Given the description of an element on the screen output the (x, y) to click on. 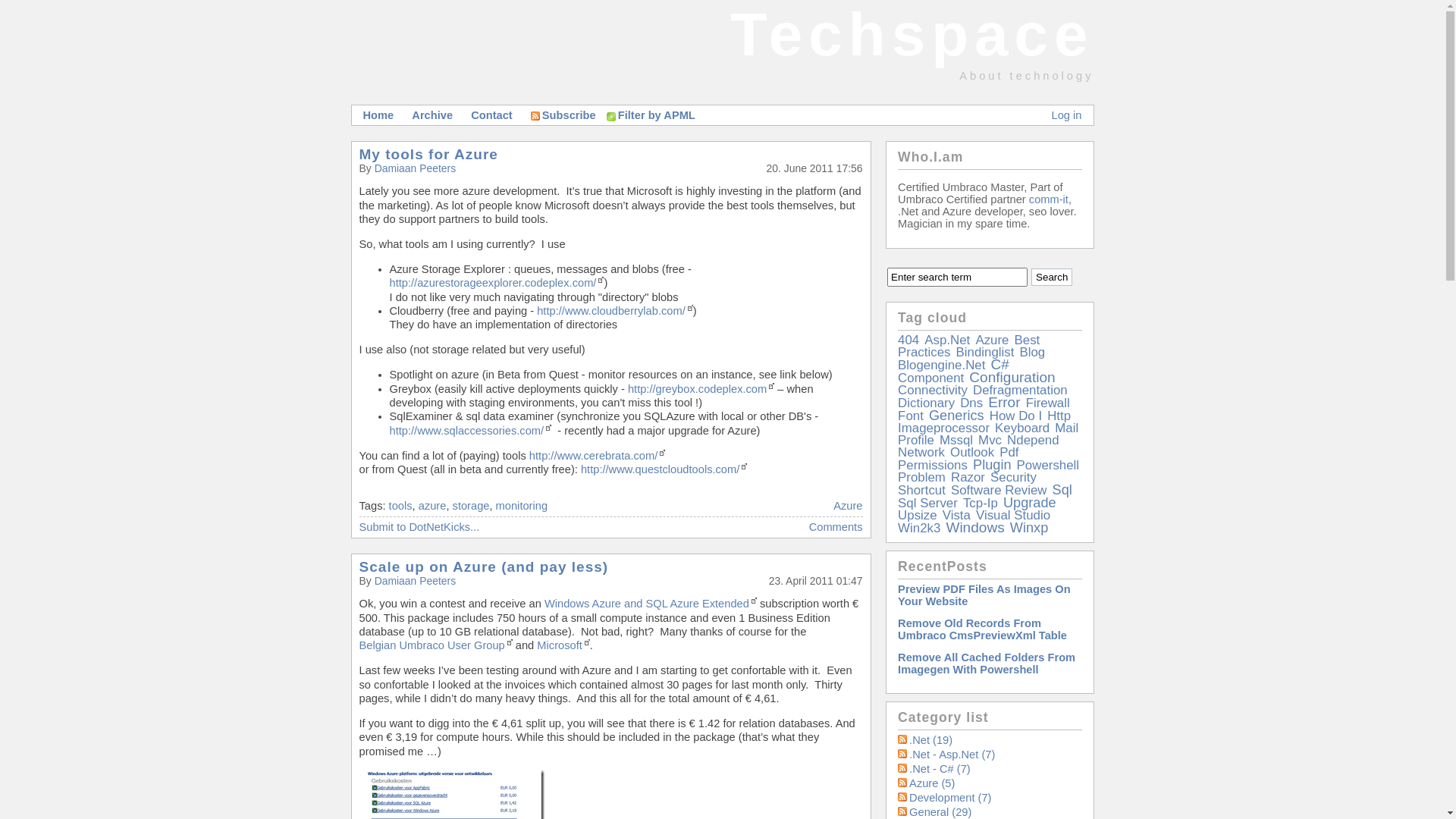
General (29) Element type: text (940, 812)
Asp.Net Element type: text (946, 339)
Archive Element type: text (432, 114)
Dns Element type: text (971, 402)
Scale up on Azure (and pay less) Element type: text (483, 566)
Ndepend Element type: text (1032, 440)
Plugin Element type: text (991, 464)
Firewall Element type: text (1048, 402)
Dictionary Element type: text (925, 402)
http://www.sqlaccessories.com/ Element type: text (470, 430)
Vista Element type: text (956, 515)
How Do I Element type: text (1015, 415)
Problem Element type: text (921, 477)
Software Review Element type: text (998, 490)
http://azurestorageexplorer.codeplex.com/ Element type: text (496, 282)
Outlook Element type: text (972, 452)
Blog Element type: text (1031, 352)
Submit to DotNetKicks... Element type: text (419, 526)
Subscribe Element type: text (563, 114)
Sql Element type: text (1062, 489)
Configuration Element type: text (1011, 377)
C# Element type: text (999, 364)
Contact Element type: text (491, 114)
Mail Profile Element type: text (987, 433)
Remove Old Records From Umbraco CmsPreviewXml Table Element type: text (981, 629)
Connectivity Element type: text (932, 389)
storage Element type: text (470, 504)
Home Element type: text (377, 114)
Windows Azure and SQL Azure Extended Element type: text (650, 603)
Damiaan Peeters Element type: text (415, 580)
Search Element type: text (1051, 276)
Blogengine.Net Element type: text (941, 364)
Azure (5) Element type: text (931, 783)
Keyboard Element type: text (1021, 427)
Powershell Element type: text (1047, 465)
Azure Element type: text (991, 339)
Techspace Element type: text (912, 34)
Network Element type: text (920, 452)
Pdf Element type: text (1008, 452)
Belgian Umbraco User Group Element type: text (435, 645)
.Net - C# (7) Element type: text (939, 768)
monitoring Element type: text (521, 504)
http://greybox.codeplex.com Element type: text (700, 388)
Mssql Element type: text (955, 440)
Best Practices Element type: text (968, 345)
Filter by APML Element type: text (654, 114)
Razor Element type: text (967, 477)
Defragmentation Element type: text (1019, 389)
Remove All Cached Folders From Imagegen With Powershell Element type: text (986, 663)
Upsize Element type: text (917, 515)
Damiaan Peeters Element type: text (415, 168)
tools Element type: text (400, 504)
Visual Studio Element type: text (1012, 515)
Windows Element type: text (974, 527)
Azure Element type: text (847, 504)
Permissions Element type: text (932, 465)
Microsoft Element type: text (562, 645)
My tools for Azure Element type: text (428, 154)
404 Element type: text (908, 339)
.Net (19) Element type: text (930, 740)
http://www.cloudberrylab.com/ Element type: text (614, 310)
Preview PDF Files As Images On Your Website Element type: text (983, 595)
http://www.cerebrata.com/ Element type: text (597, 455)
Development (7) Element type: text (950, 797)
Upgrade Element type: text (1029, 502)
Comments Element type: text (835, 526)
Sql Server Element type: text (927, 502)
Font Element type: text (910, 415)
Win2k3 Element type: text (918, 527)
Tcp-Ip Element type: text (980, 502)
Http Element type: text (1058, 415)
Security Element type: text (1013, 477)
azure Element type: text (432, 504)
http://www.questcloudtools.com/ Element type: text (663, 469)
Winxp Element type: text (1029, 527)
Mvc Element type: text (989, 440)
comm-it Element type: text (1048, 199)
Component Element type: text (930, 377)
Log in Element type: text (1066, 115)
Error Element type: text (1003, 402)
.Net - Asp.Net (7) Element type: text (951, 754)
Imageprocessor Element type: text (943, 427)
Shortcut Element type: text (921, 490)
Bindinglist Element type: text (985, 352)
Generics Element type: text (956, 415)
